Given the description of an element on the screen output the (x, y) to click on. 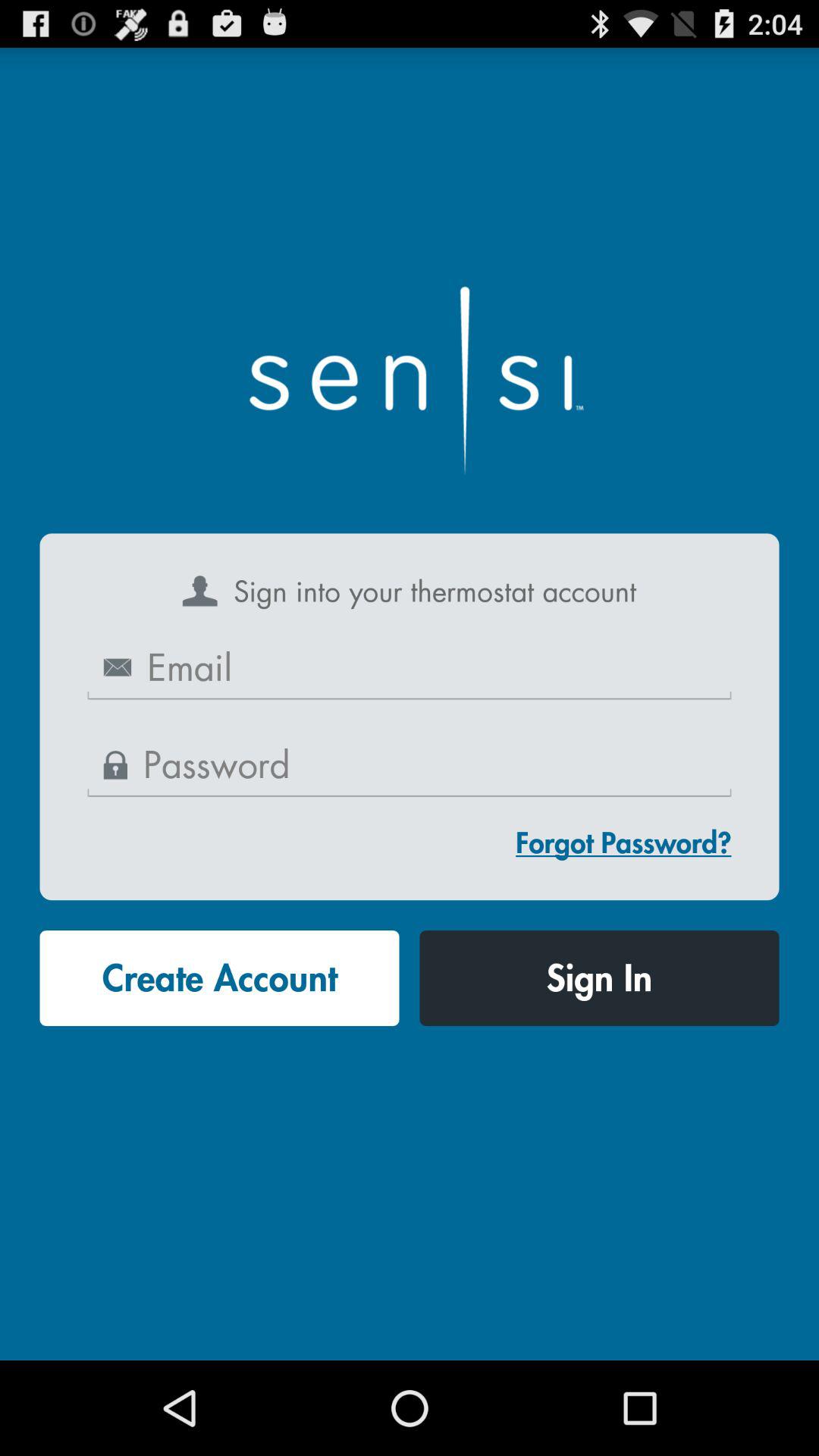
flip to sign in button (599, 978)
